Given the description of an element on the screen output the (x, y) to click on. 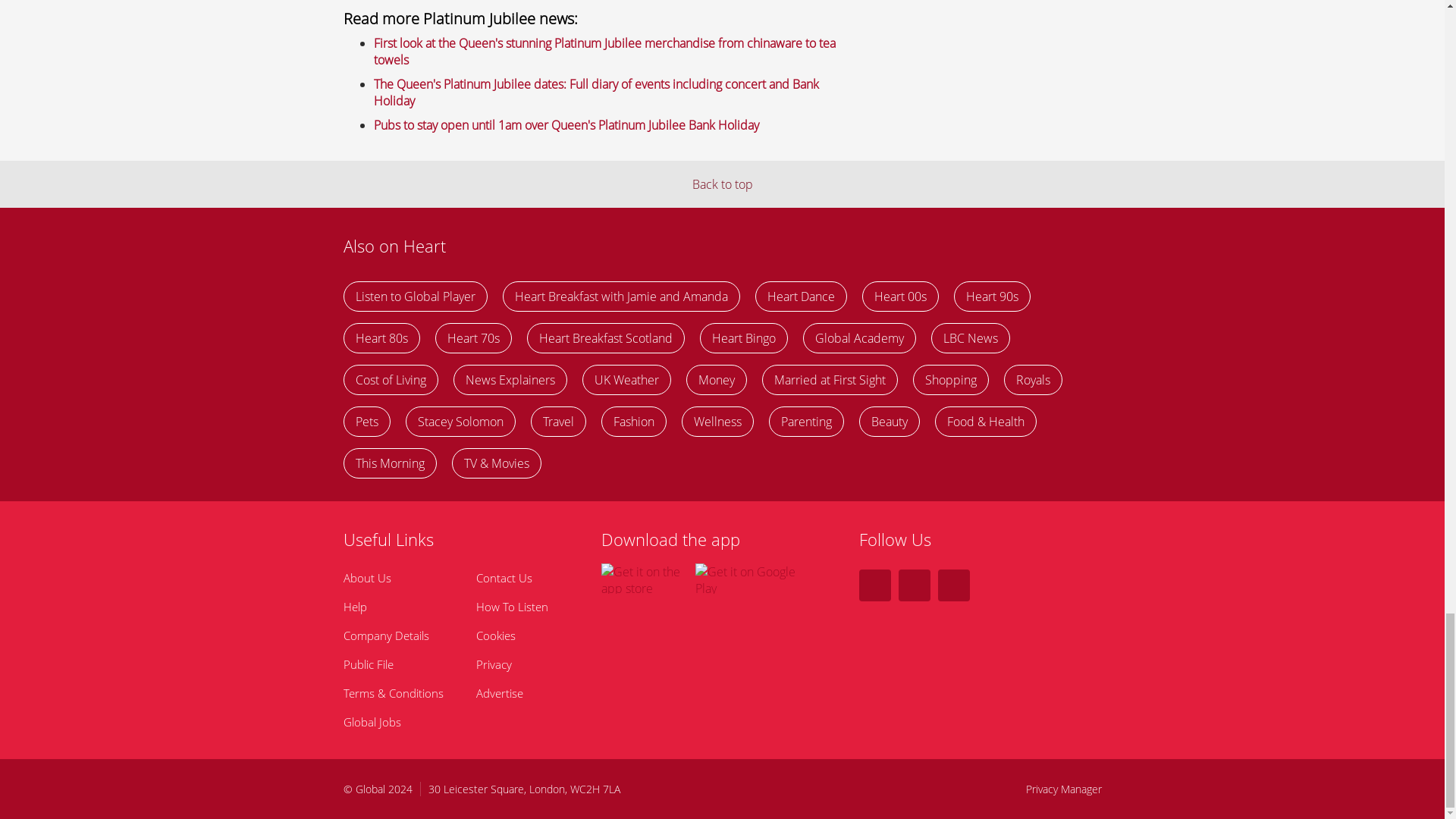
Back to top (721, 184)
Follow Heart on Instagram (914, 585)
Follow Heart on Youtube (953, 585)
Follow Heart on Facebook (874, 585)
